Given the description of an element on the screen output the (x, y) to click on. 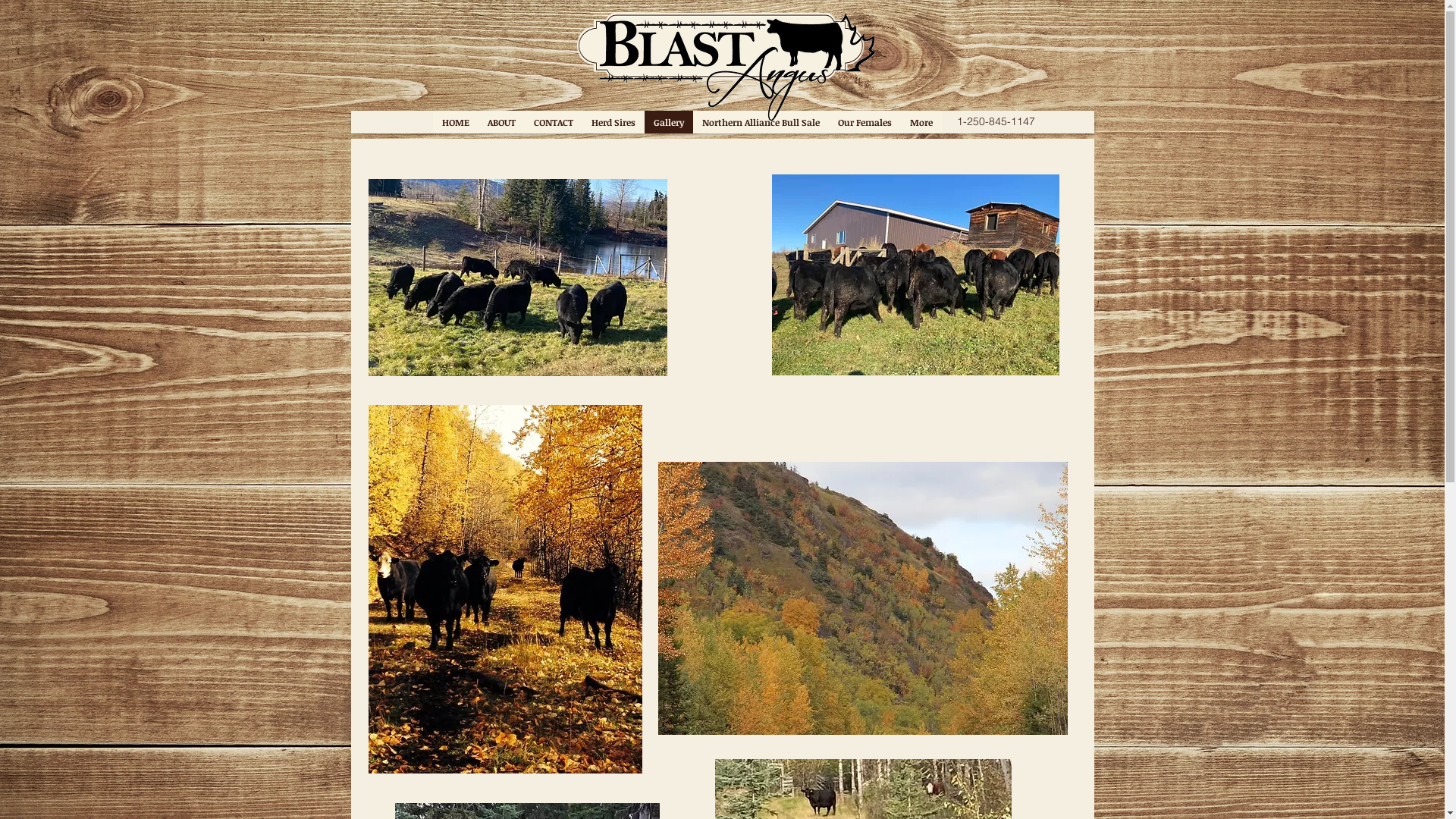
ABOUT Element type: text (500, 121)
Herd Sires Element type: text (613, 121)
CONTACT Element type: text (553, 121)
Northern Alliance Bull Sale Element type: text (760, 121)
Our Females Element type: text (864, 121)
Gallery Element type: text (668, 121)
HOME Element type: text (454, 121)
1-250-845-1147 Element type: text (995, 121)
